Given the description of an element on the screen output the (x, y) to click on. 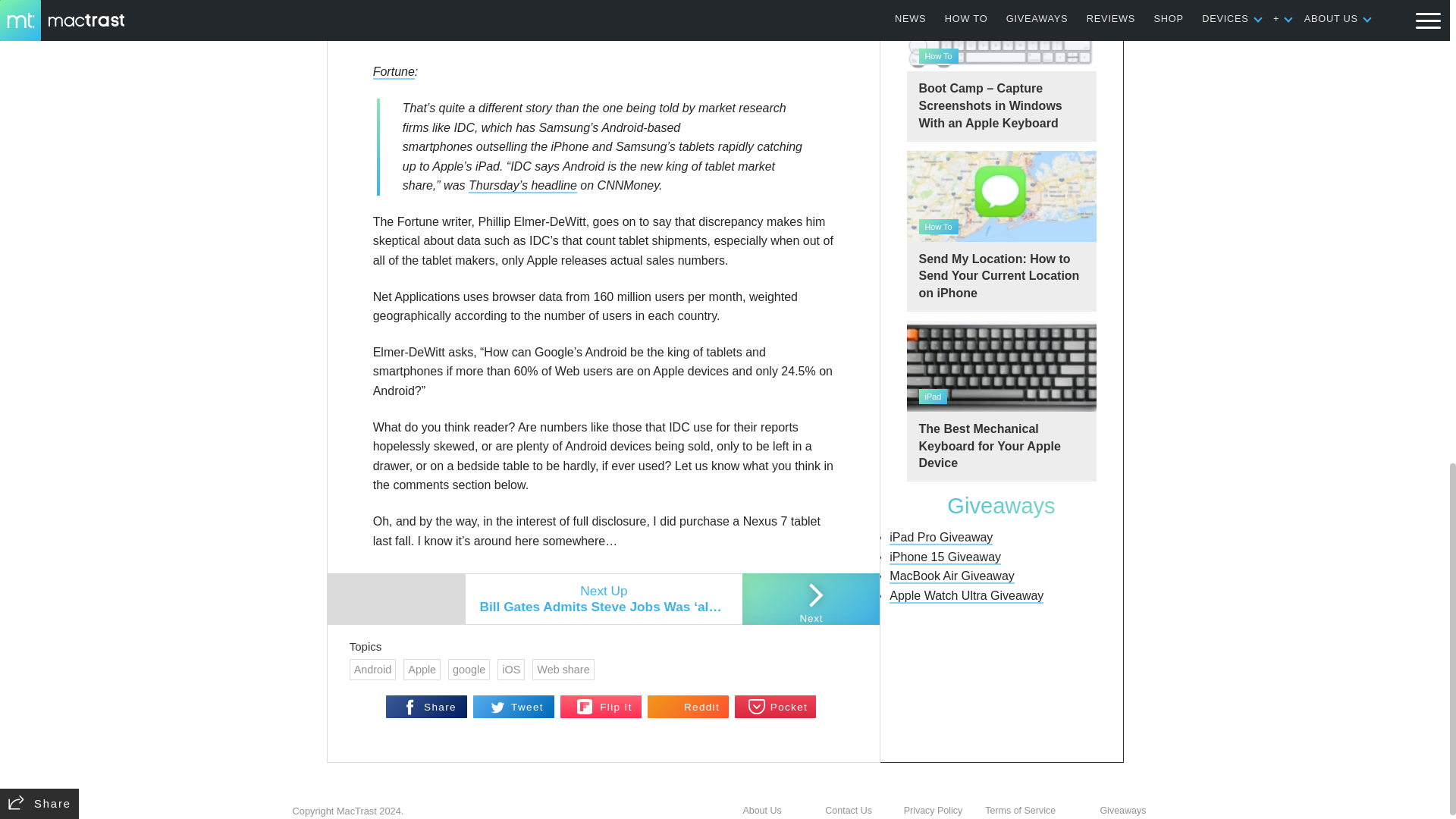
Tweet (513, 706)
Share on Reddit (688, 706)
Share on Facebook (426, 706)
